Given the description of an element on the screen output the (x, y) to click on. 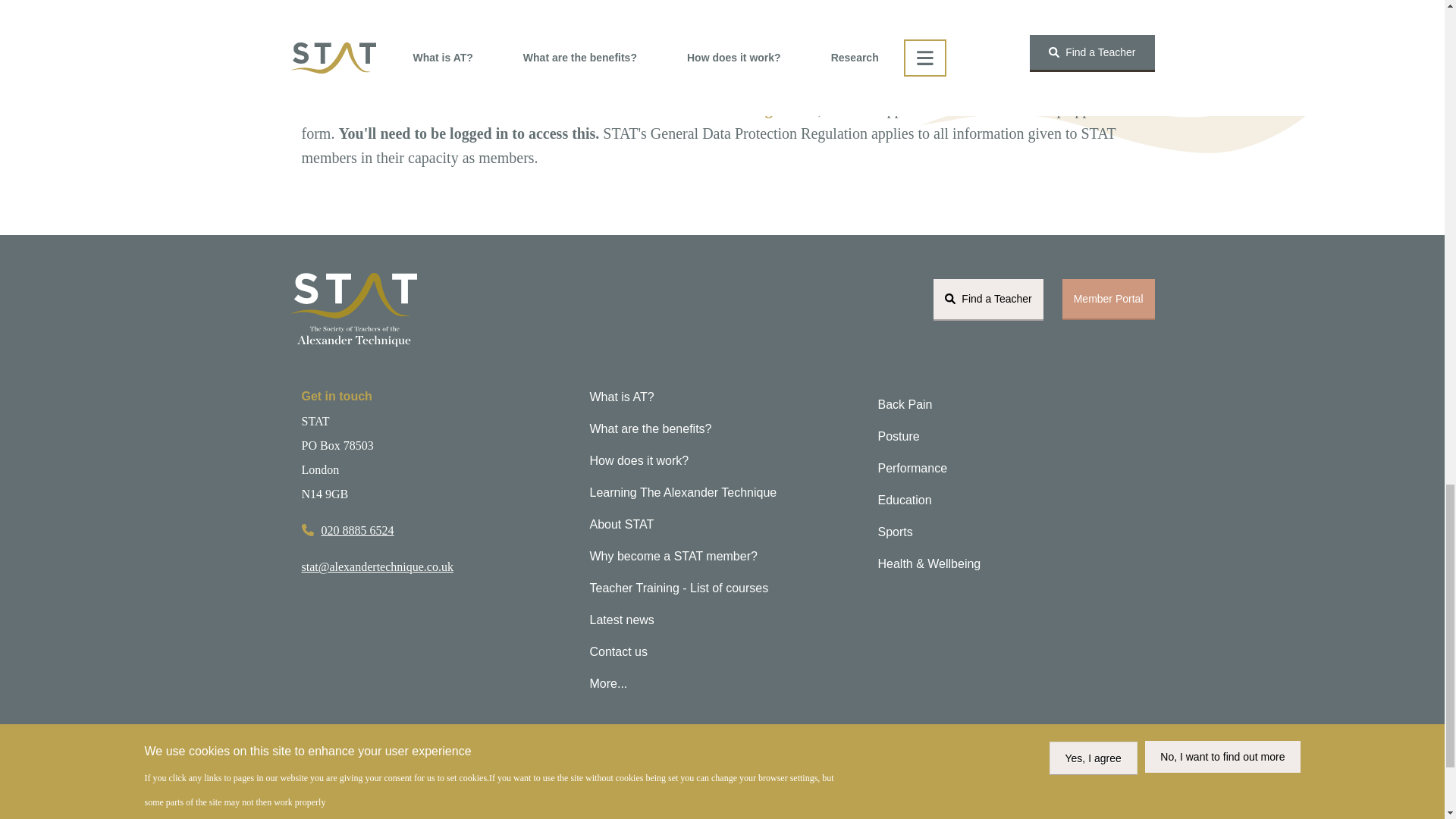
Member Portal (1108, 299)
Member Portal (1108, 299)
 Find a Teacher (988, 300)
General Data Protection Regulation (701, 108)
General Data Protection Regulation (701, 108)
Teacher Training Courses (721, 588)
Find a Teacher (988, 300)
